Given the description of an element on the screen output the (x, y) to click on. 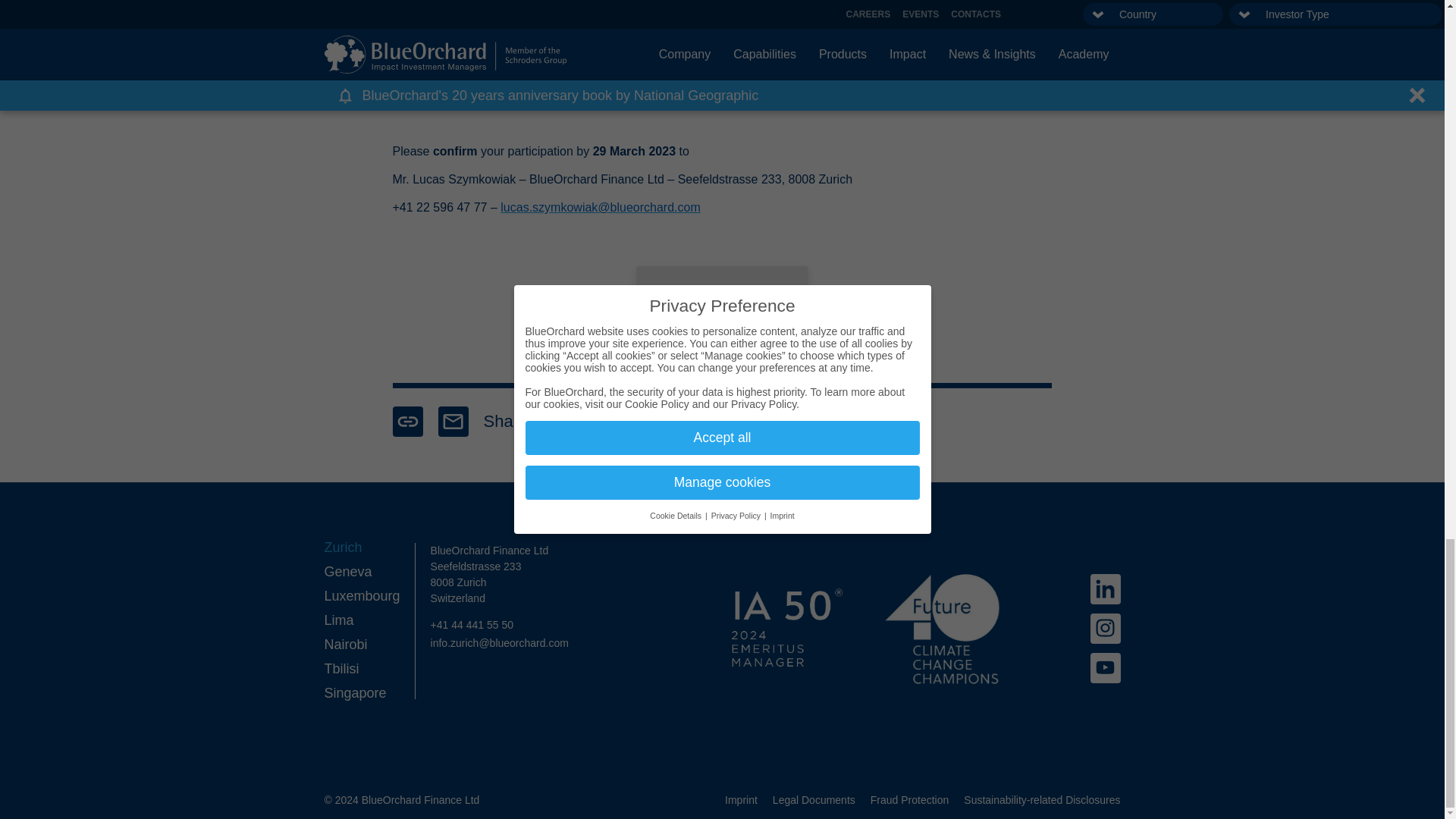
Register now (722, 294)
